Given the description of an element on the screen output the (x, y) to click on. 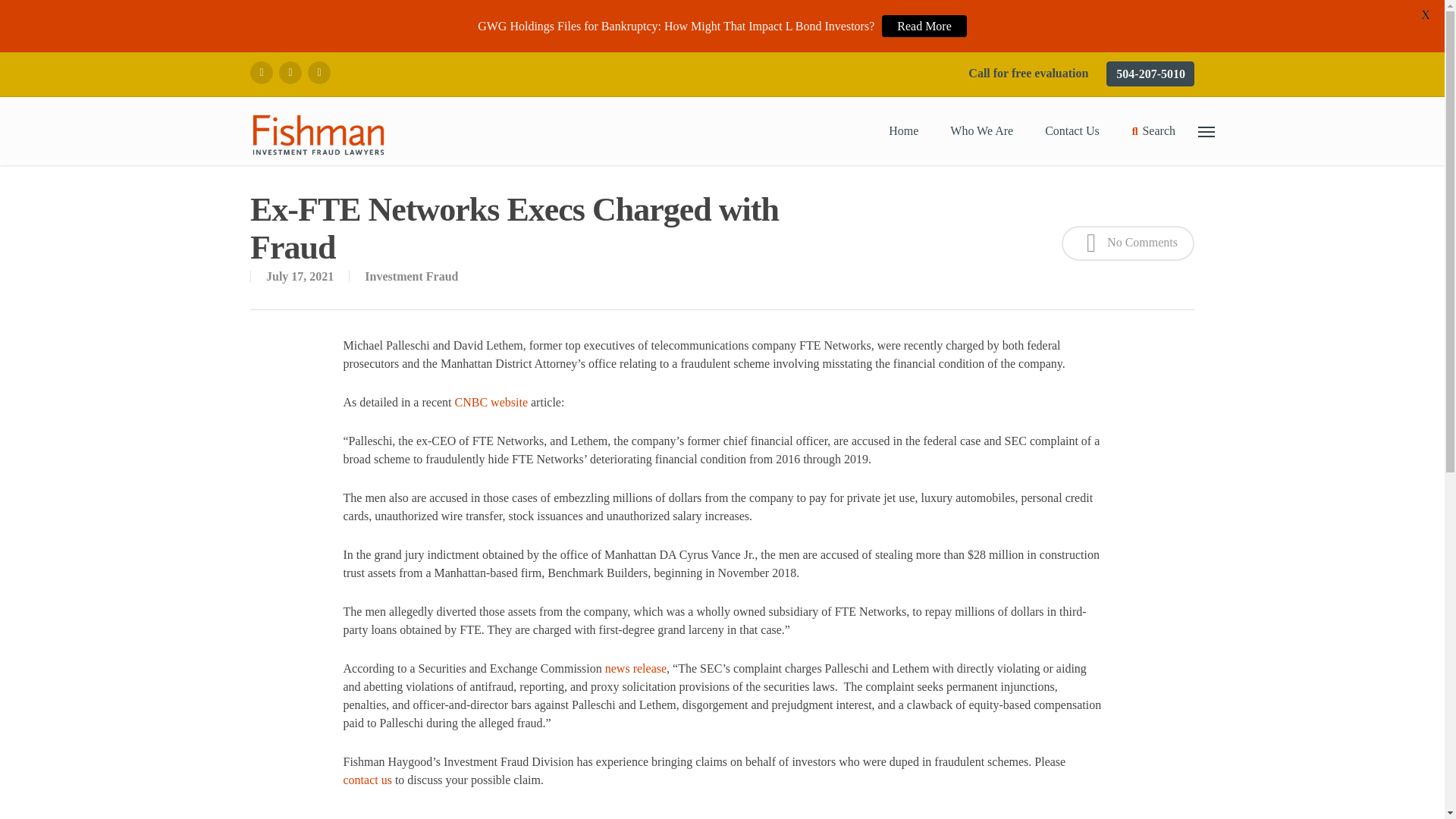
news release (635, 667)
Home (918, 134)
tumblr (318, 71)
Investment Fraud (411, 276)
No Comments (1127, 243)
contact us (366, 779)
twitter (261, 71)
504-207-5010 (1150, 73)
Who We Are (996, 134)
Contact Us (1087, 134)
CNBC website (490, 401)
facebook (290, 71)
